Given the description of an element on the screen output the (x, y) to click on. 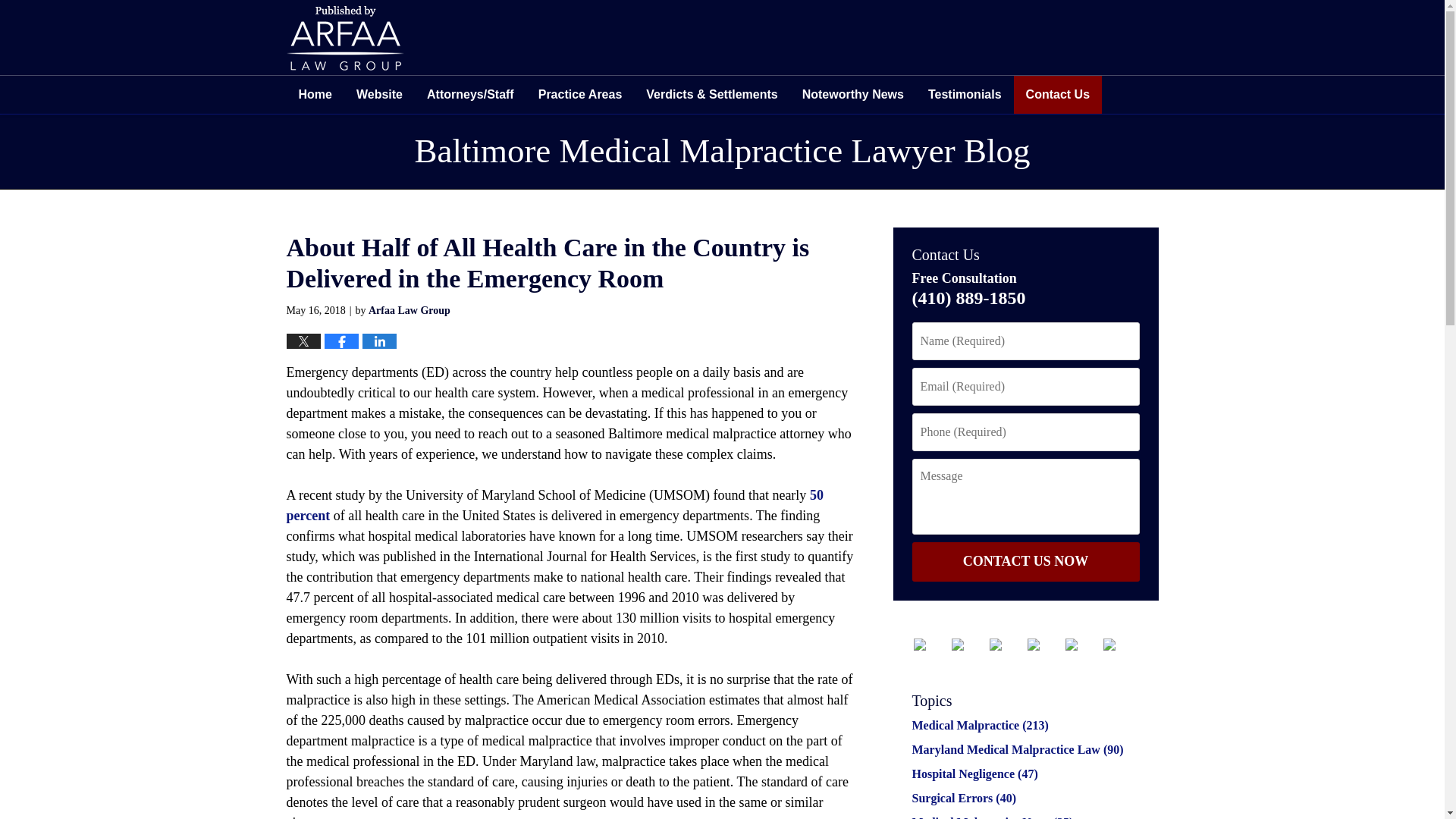
50 percent (555, 505)
LinkedIn (1005, 644)
Practice Areas (579, 94)
Noteworthy News (852, 94)
CONTACT US NOW (1024, 561)
Please enter a valid phone number. (1024, 432)
Facebook (929, 644)
Testimonials (964, 94)
Instagram (1081, 644)
Website (378, 94)
